Given the description of an element on the screen output the (x, y) to click on. 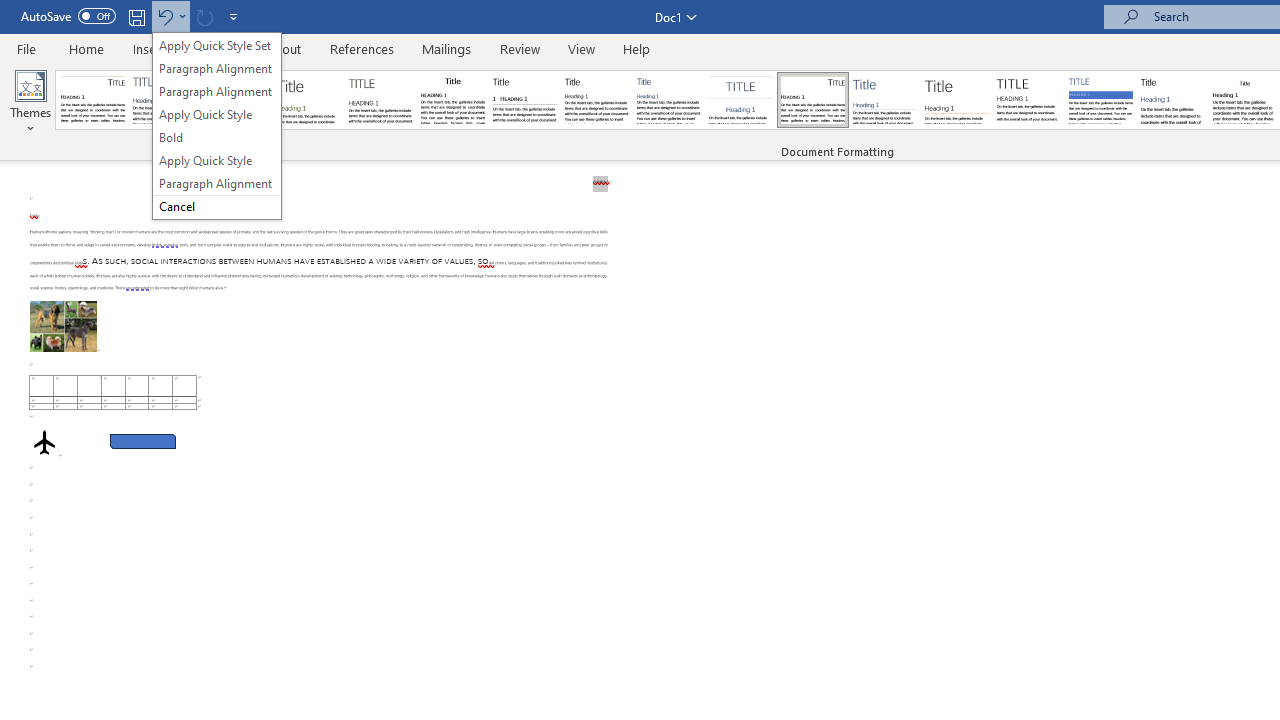
Black & White (Capitalized) (381, 100)
Themes (30, 102)
Undo Apply Quick Style Set (170, 15)
Casual (669, 100)
